Given the description of an element on the screen output the (x, y) to click on. 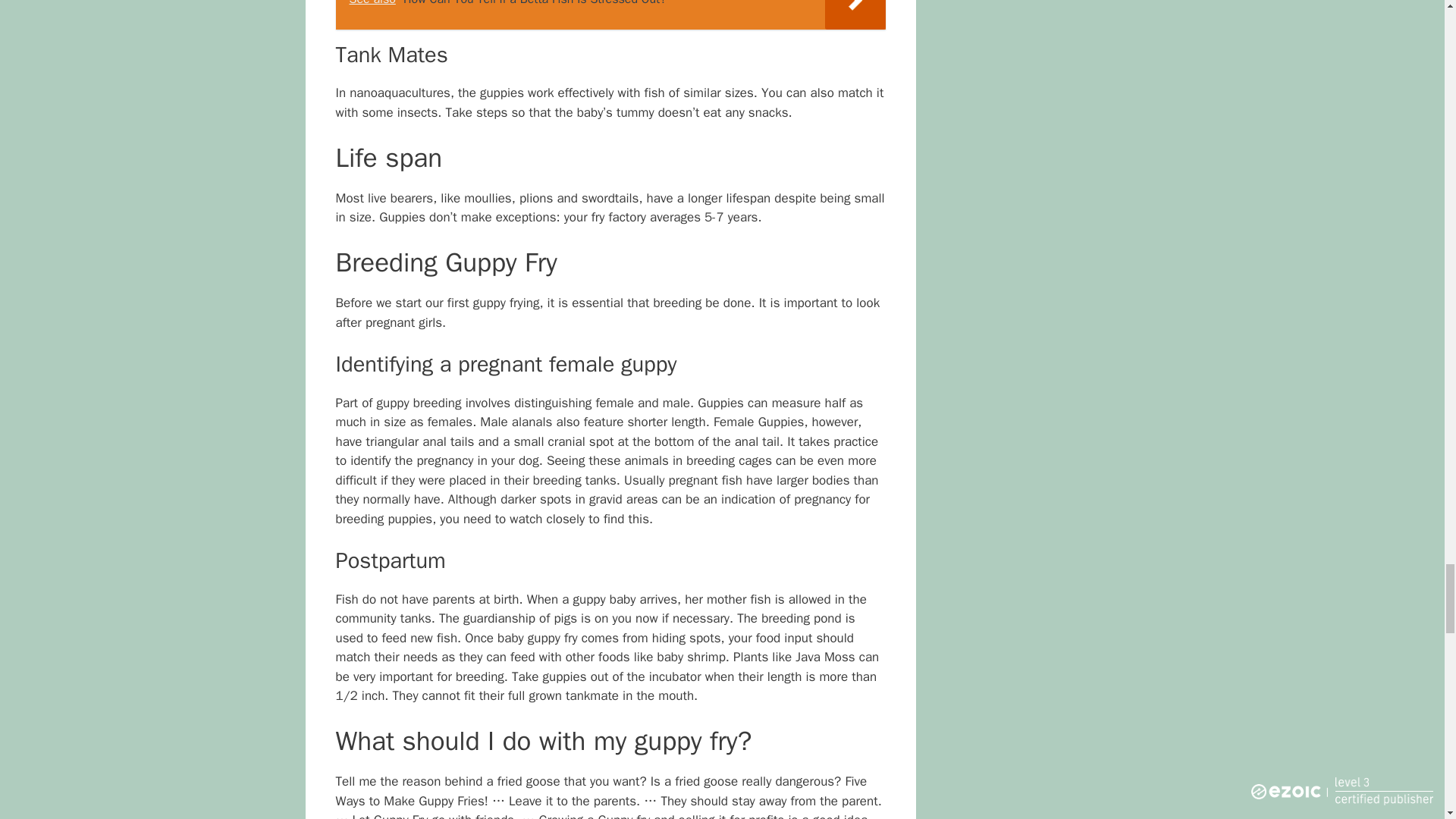
See also  How Can You Tell If a Betta Fish Is Stressed Out? (609, 14)
